Given the description of an element on the screen output the (x, y) to click on. 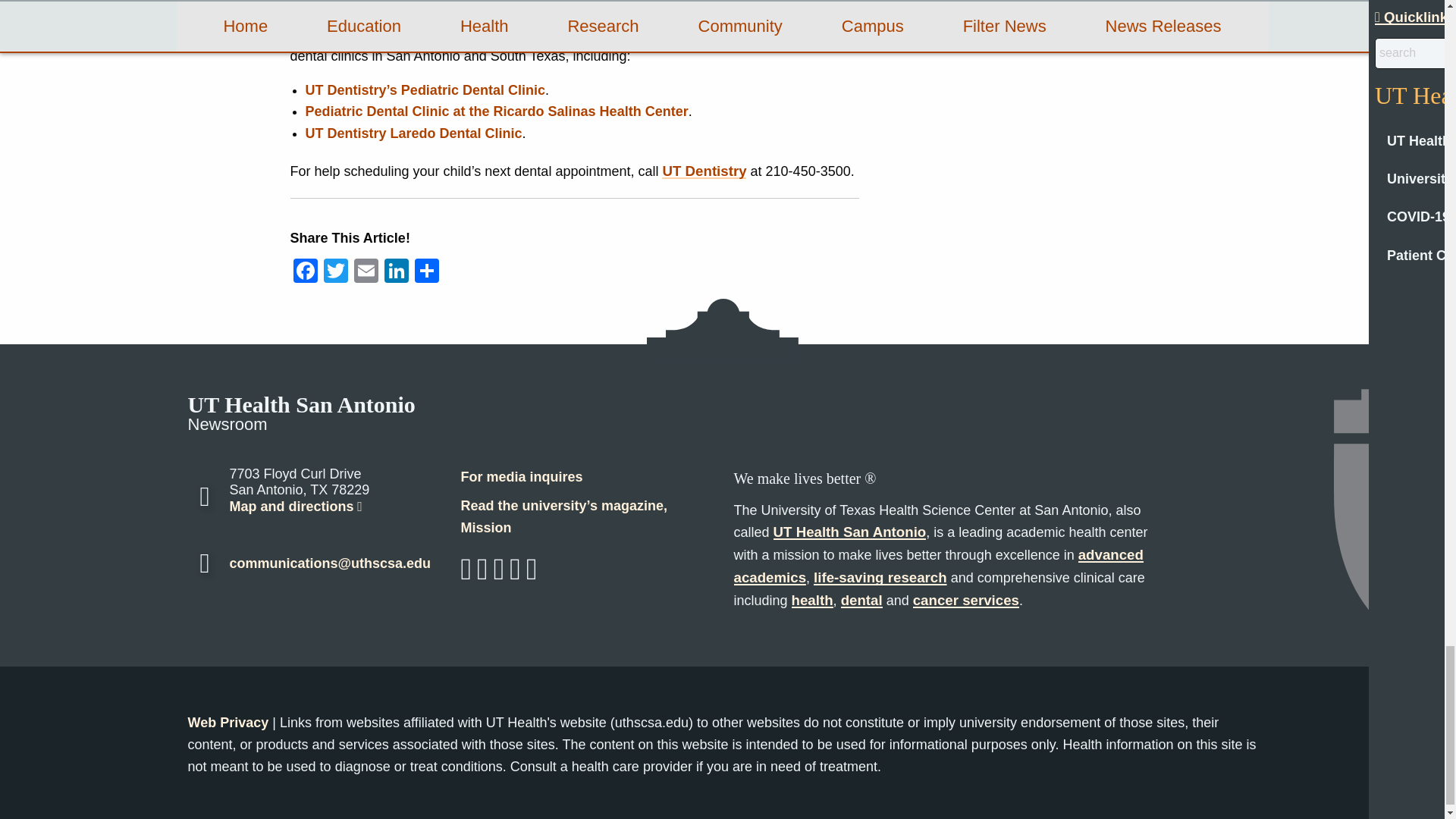
Pediatric Dental Clinic at the Ricardo Salinas Health Center (495, 111)
Twitter (335, 272)
Email (365, 272)
LinkedIn (395, 272)
Facebook (304, 272)
Email (365, 272)
LinkedIn (395, 272)
UT Dentistry Laredo Dental Clinic (412, 133)
Twitter (335, 272)
Facebook (304, 272)
UT Dentistry (703, 170)
